Given the description of an element on the screen output the (x, y) to click on. 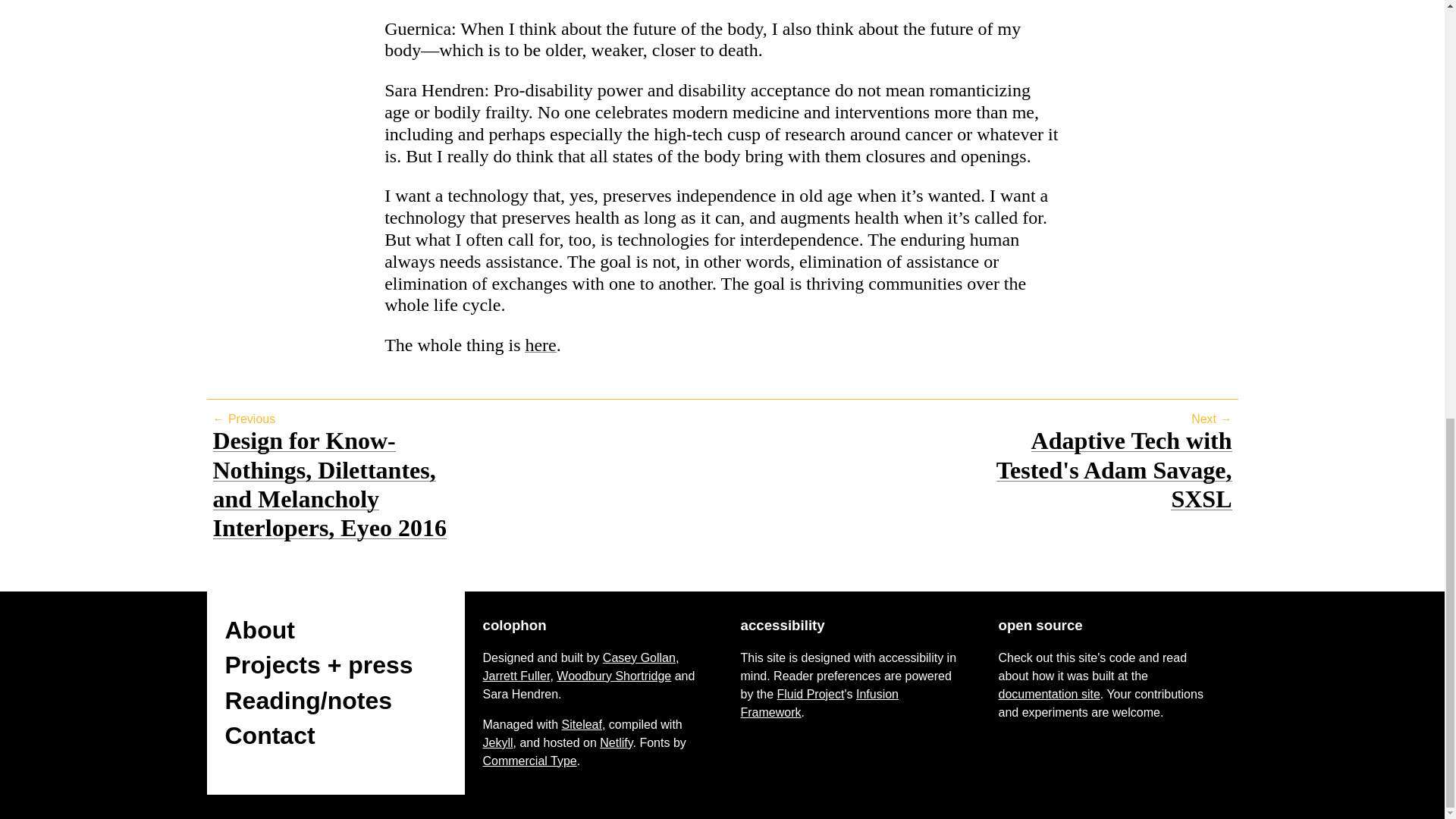
Casey Gollan (638, 657)
Netlify (615, 742)
Siteleaf (582, 724)
Commercial Type (528, 760)
here (540, 344)
About (259, 629)
Fluid Project (810, 694)
Contact (269, 735)
Woodbury Shortridge (613, 675)
Jekyll (496, 742)
documentation site (1048, 694)
Jarrett Fuller (515, 675)
Infusion Framework (818, 703)
